Given the description of an element on the screen output the (x, y) to click on. 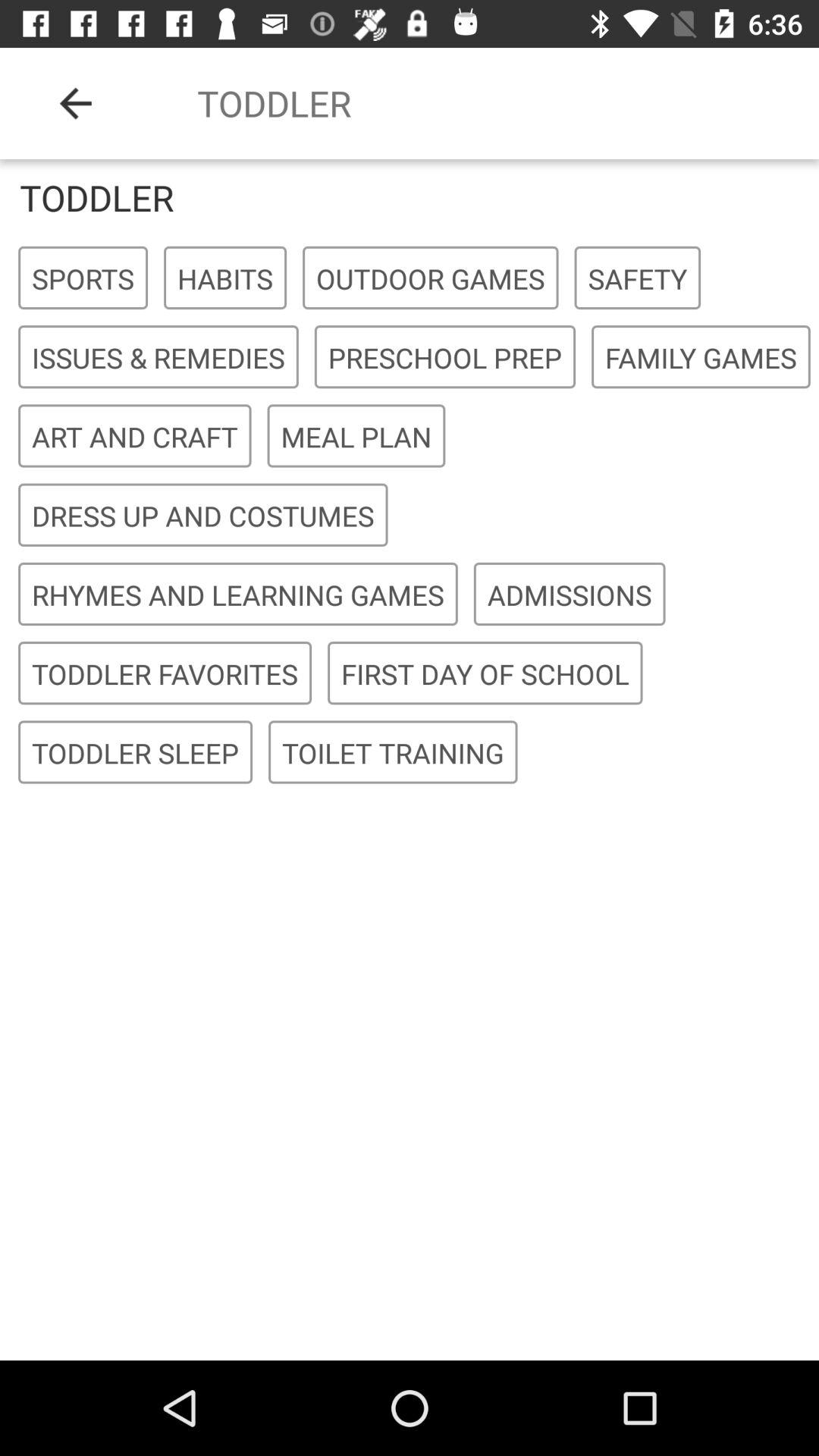
turn on the icon above the toddler icon (75, 103)
